Given the description of an element on the screen output the (x, y) to click on. 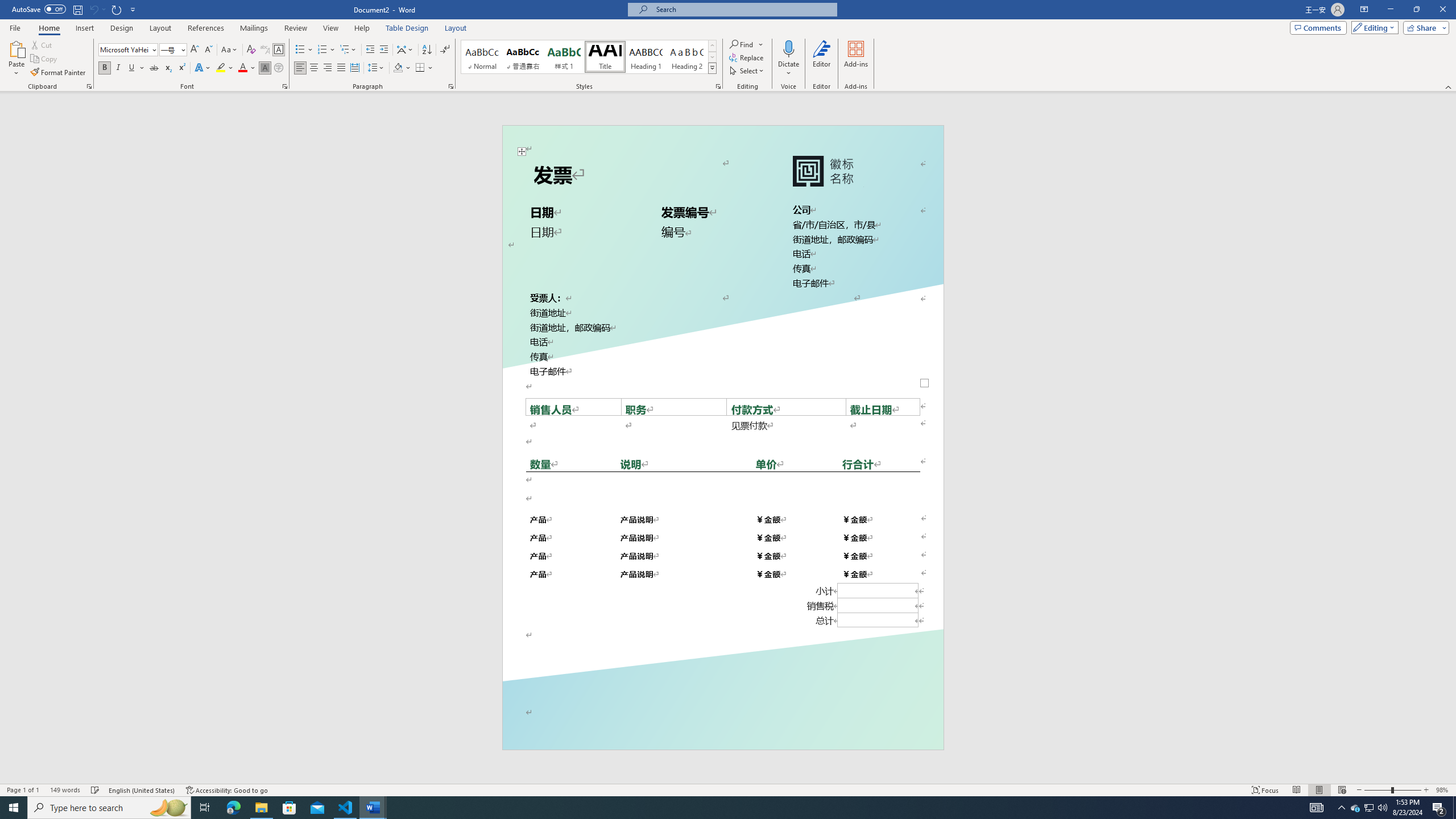
Character Shading (264, 67)
Cut (42, 44)
Zoom In (1426, 790)
Distributed (354, 67)
Ribbon Display Options (1364, 9)
Language English (United States) (141, 790)
AutomationID: QuickStylesGallery (588, 56)
Zoom (1392, 790)
Subscript (167, 67)
Text Effects and Typography (202, 67)
Bullets (300, 49)
Help (361, 28)
Text Highlight Color (224, 67)
